Given the description of an element on the screen output the (x, y) to click on. 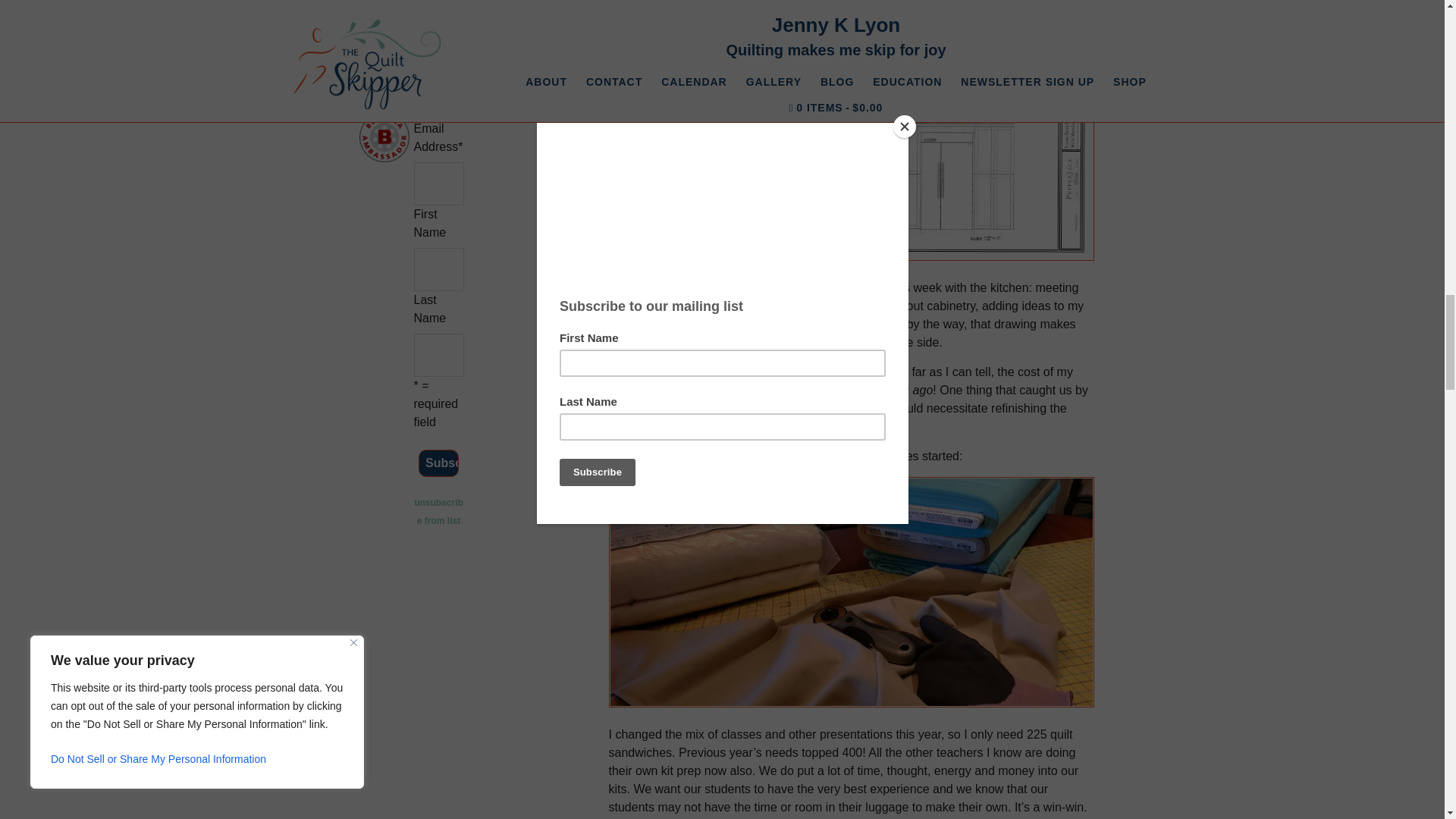
Subscribe (438, 462)
